Given the description of an element on the screen output the (x, y) to click on. 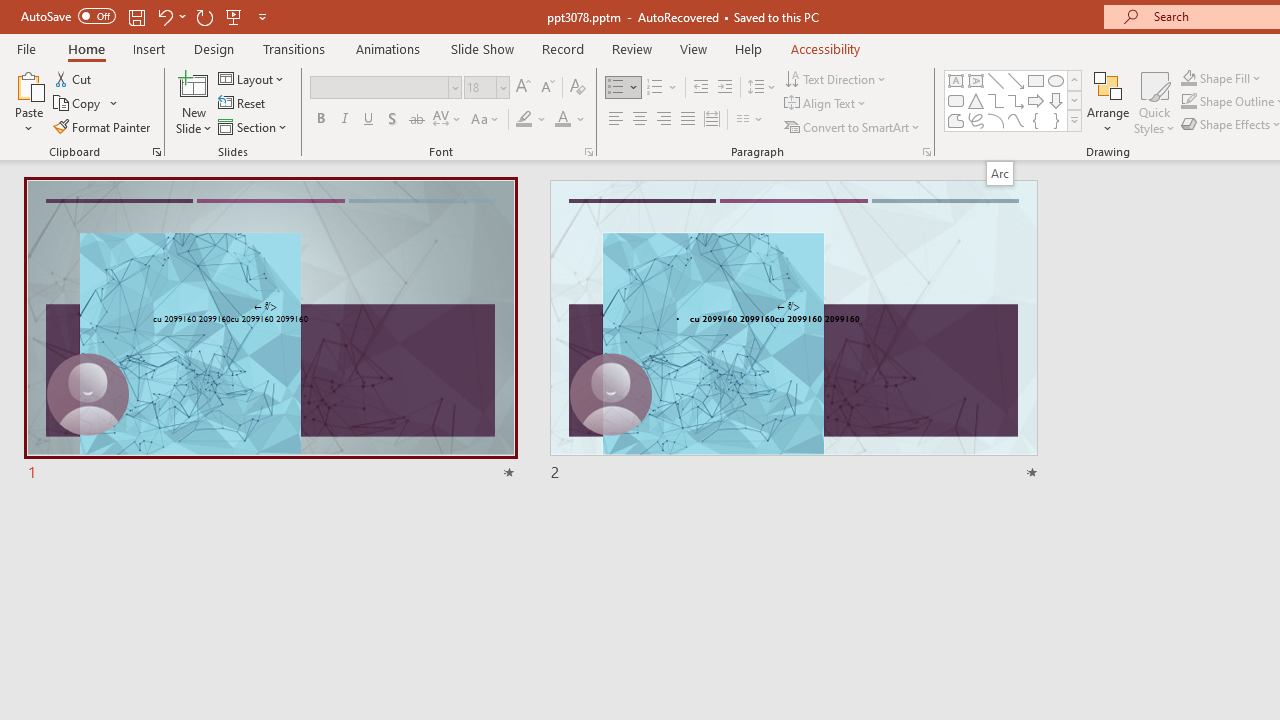
Cut (73, 78)
Bold (320, 119)
Vertical Text Box (975, 80)
Arc (995, 120)
Increase Font Size (522, 87)
Align Left (616, 119)
Center (639, 119)
Section (254, 126)
Convert to SmartArt (853, 126)
Font... (588, 151)
Arc (999, 173)
Text Box (955, 80)
